Given the description of an element on the screen output the (x, y) to click on. 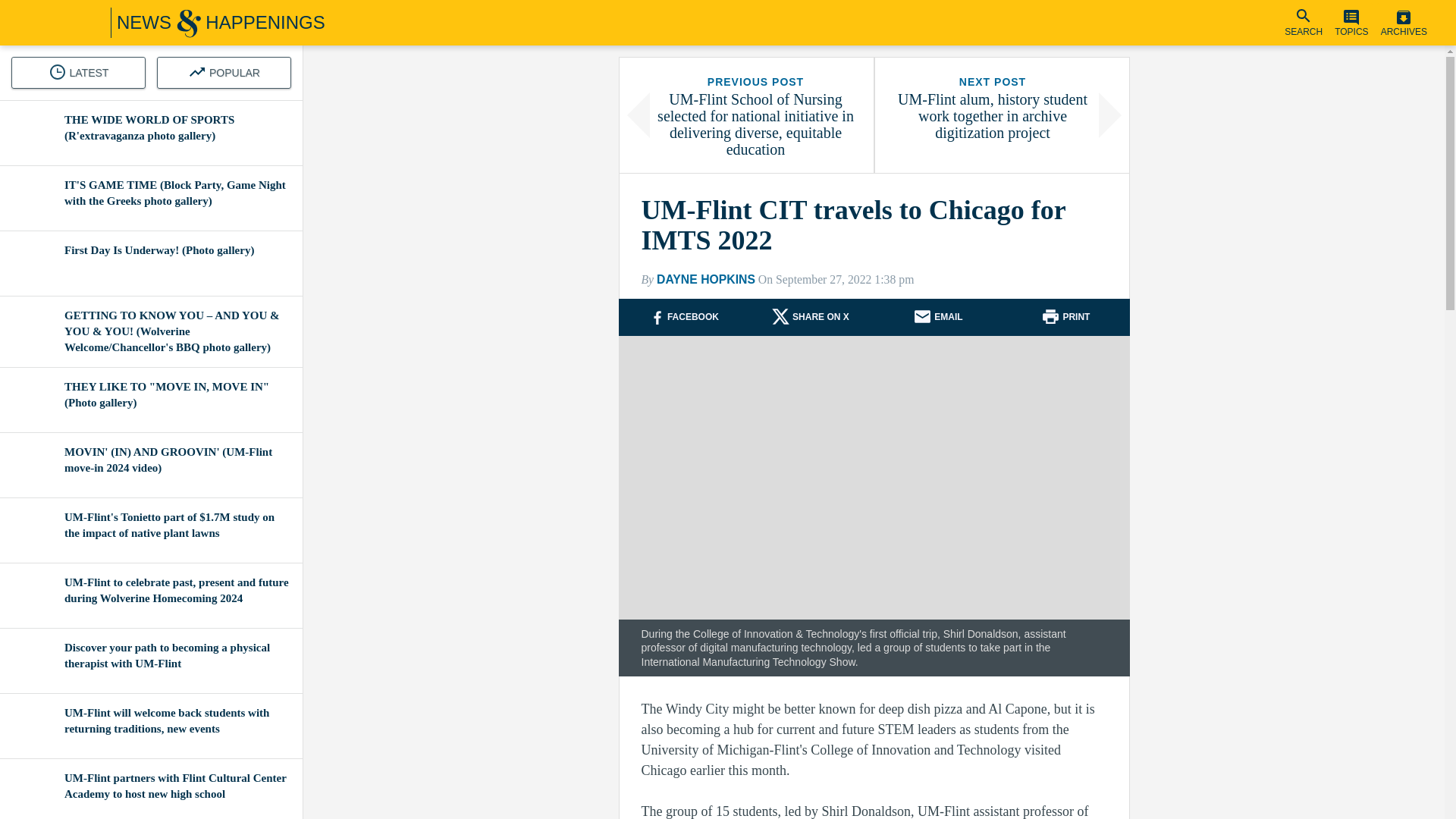
Send this article to a friend! (937, 316)
Share this on Facebook (692, 317)
Print this article (1075, 317)
Share this on X (820, 317)
Go to umflint.edu (42, 22)
DAYNE HOPKINS (705, 278)
Explore our archives (1404, 22)
